Given the description of an element on the screen output the (x, y) to click on. 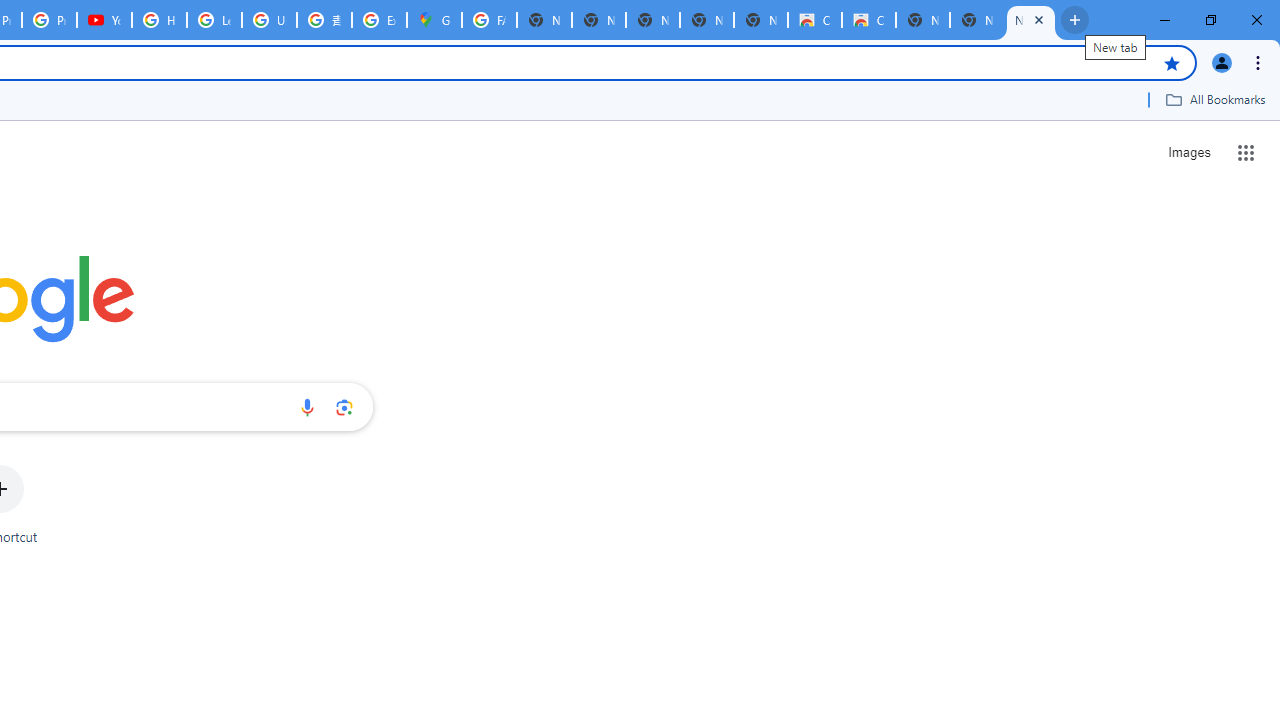
New Tab (976, 20)
Explore new street-level details - Google Maps Help (379, 20)
Classic Blue - Chrome Web Store (868, 20)
YouTube (103, 20)
